Given the description of an element on the screen output the (x, y) to click on. 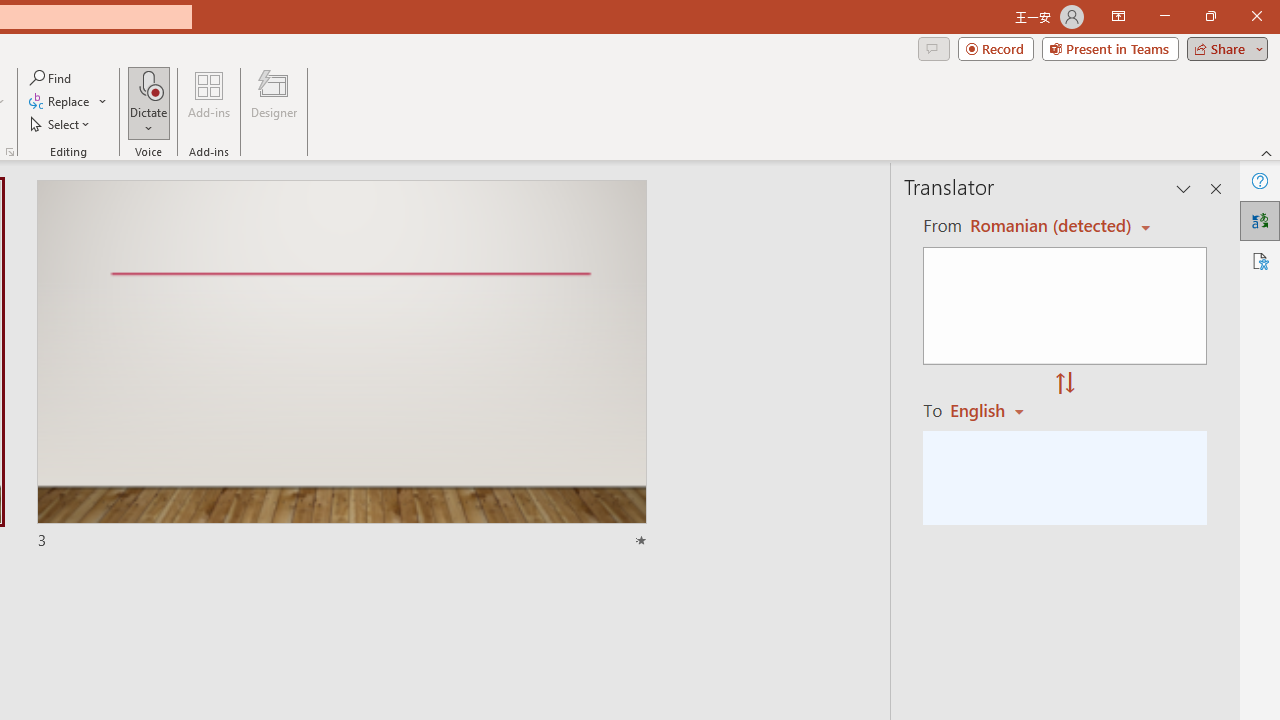
Dictate (149, 102)
Designer (274, 102)
Find... (51, 78)
More Options (149, 121)
Format Object... (9, 151)
Minimize (1164, 16)
Comments (933, 48)
Slide (341, 365)
Accessibility (1260, 260)
Replace... (60, 101)
Close pane (1215, 188)
